Given the description of an element on the screen output the (x, y) to click on. 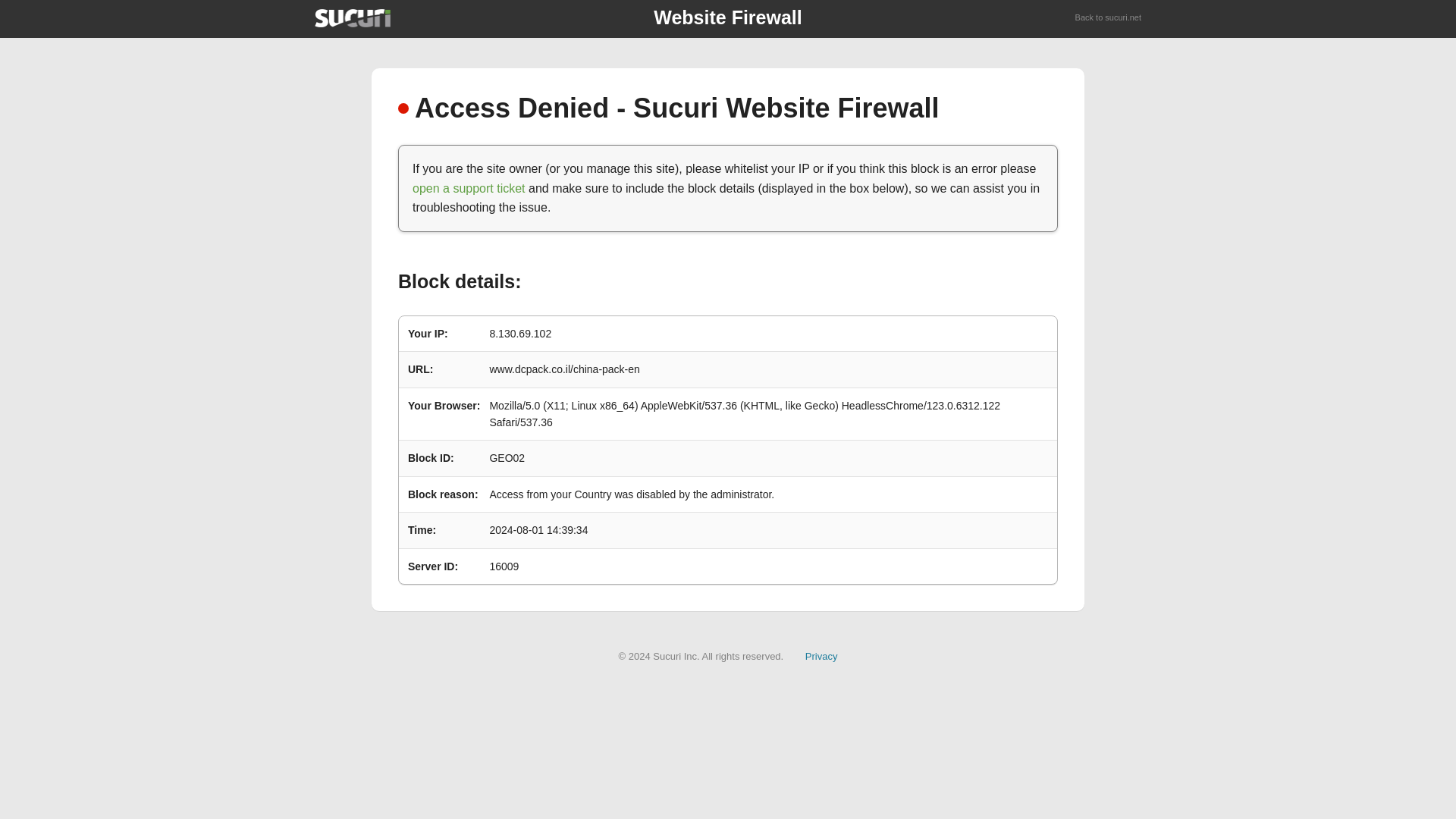
open a support ticket (468, 187)
Back to sucuri.net (1108, 18)
Privacy (821, 655)
